Given the description of an element on the screen output the (x, y) to click on. 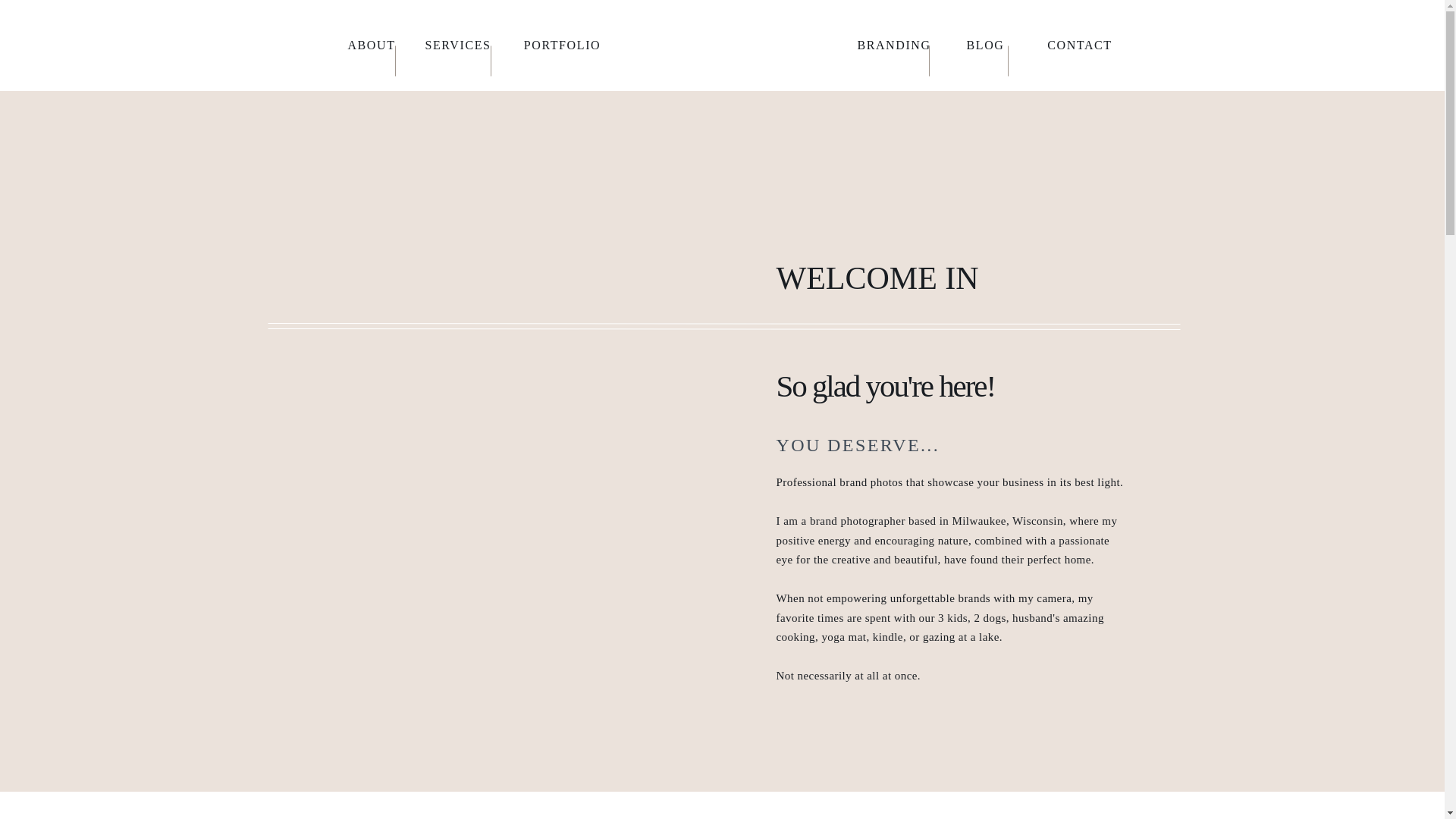
BRANDING (893, 45)
ABOUT (371, 45)
BLOG (983, 45)
PORTFOLIO (561, 45)
SERVICES (457, 45)
CONTACT (1079, 45)
